Given the description of an element on the screen output the (x, y) to click on. 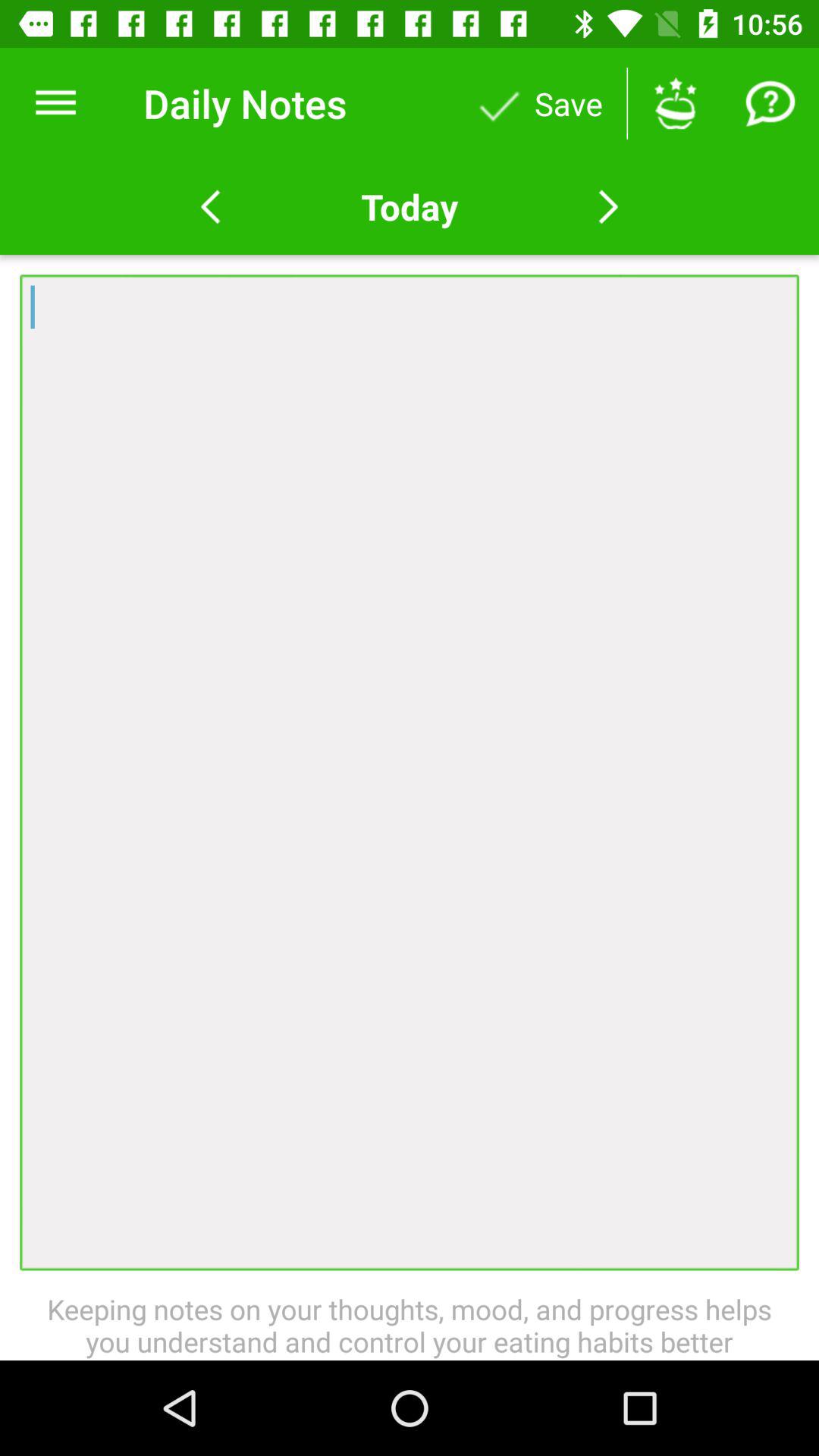
turn off icon at the center (409, 772)
